Given the description of an element on the screen output the (x, y) to click on. 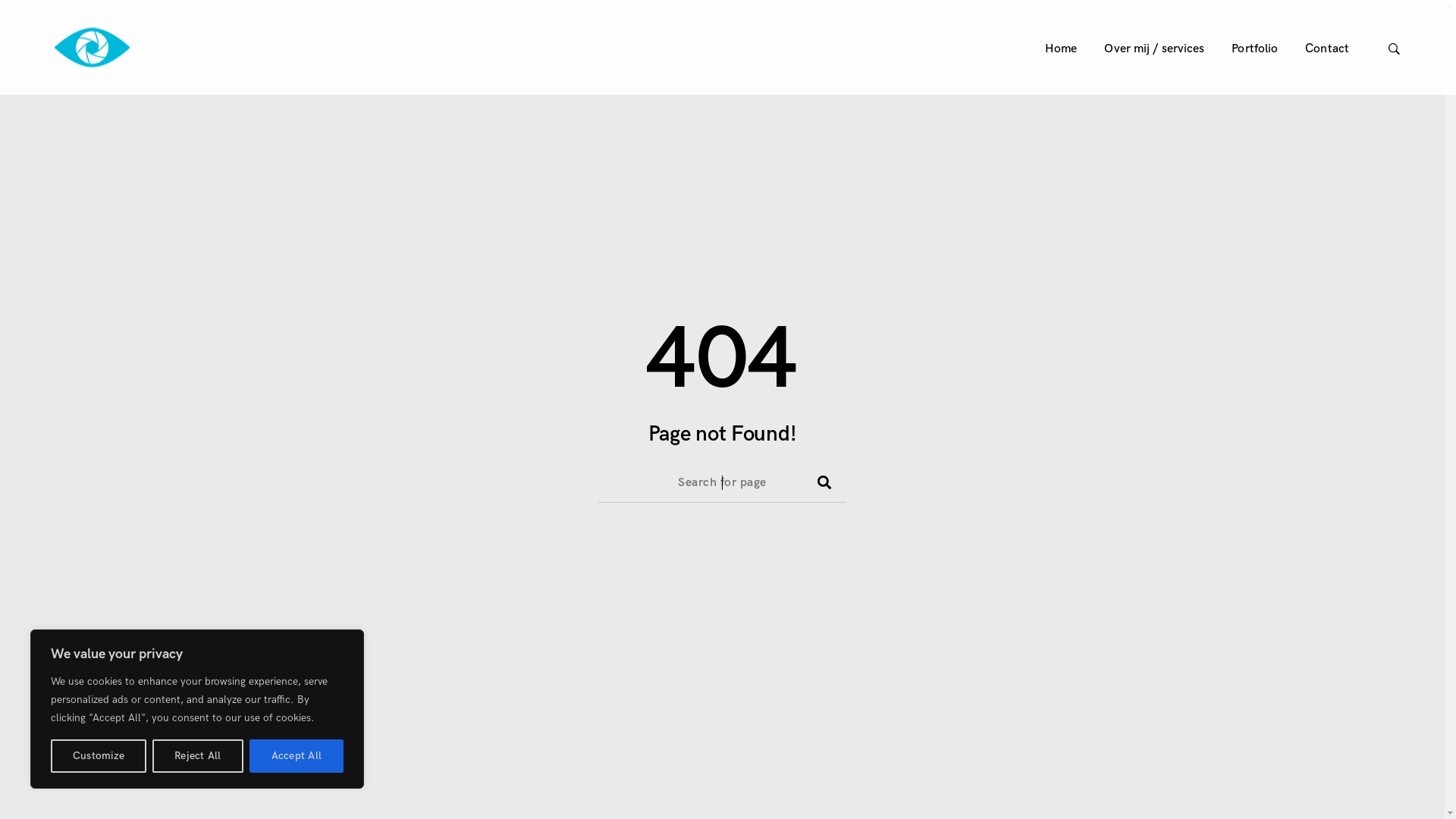
Home Element type: text (1060, 49)
Portfolio Element type: text (1254, 49)
Accept All Element type: text (296, 755)
Over mij / services Element type: text (1154, 49)
Contact Element type: text (1327, 49)
Reject All Element type: text (197, 755)
Customize Element type: text (98, 755)
